Given the description of an element on the screen output the (x, y) to click on. 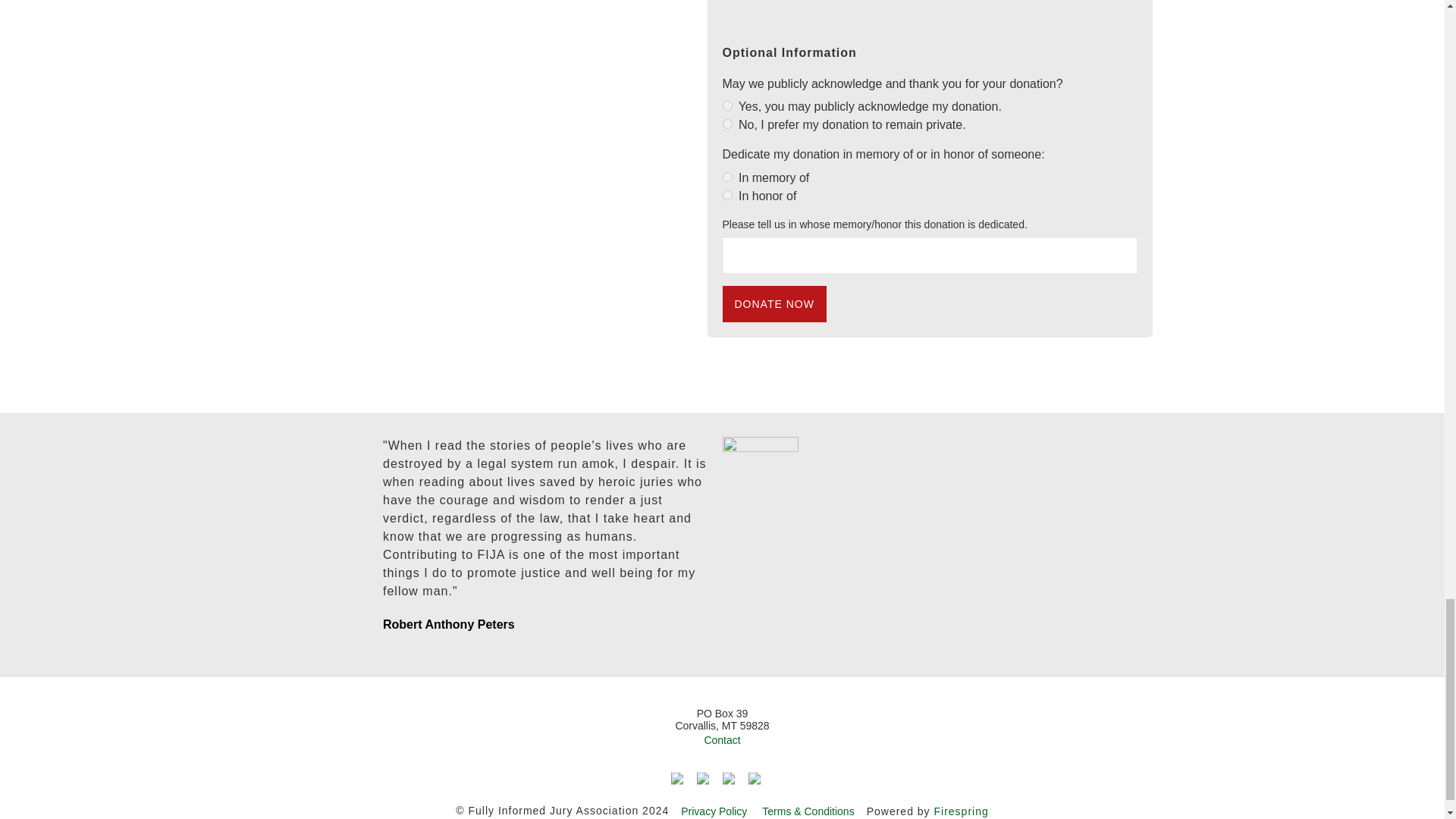
Firespring (960, 811)
Fundraiser Landing Page (929, 160)
Privacy Policy (713, 811)
Contact (721, 739)
Donate Now (773, 303)
